Given the description of an element on the screen output the (x, y) to click on. 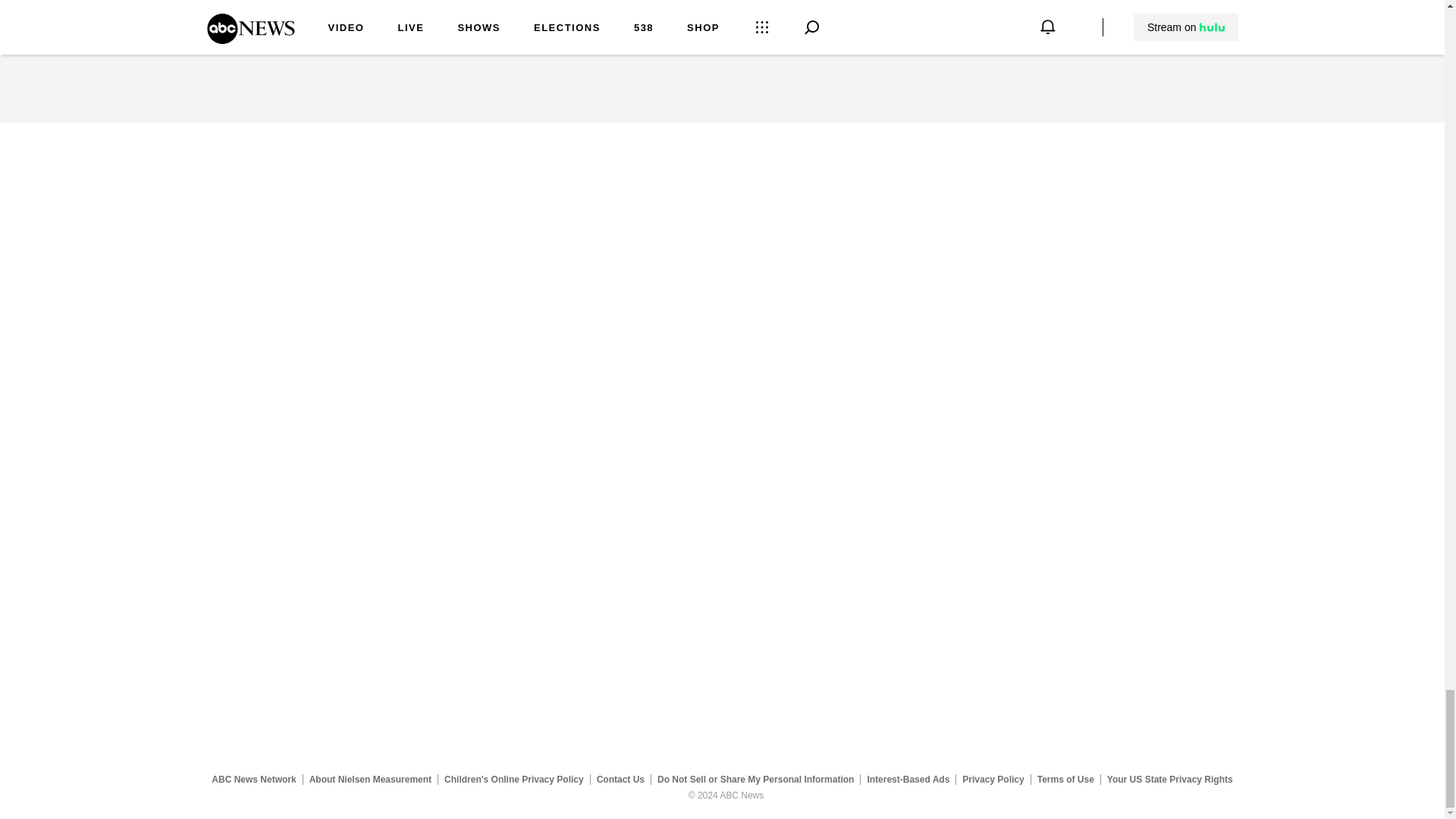
Interest-Based Ads (908, 778)
Privacy Policy (993, 778)
Contact Us (620, 778)
Children's Online Privacy Policy (514, 778)
Do Not Sell or Share My Personal Information (755, 778)
Terms of Use (1065, 778)
Your US State Privacy Rights (1169, 778)
ABC News Network (253, 778)
About Nielsen Measurement (370, 778)
